Given the description of an element on the screen output the (x, y) to click on. 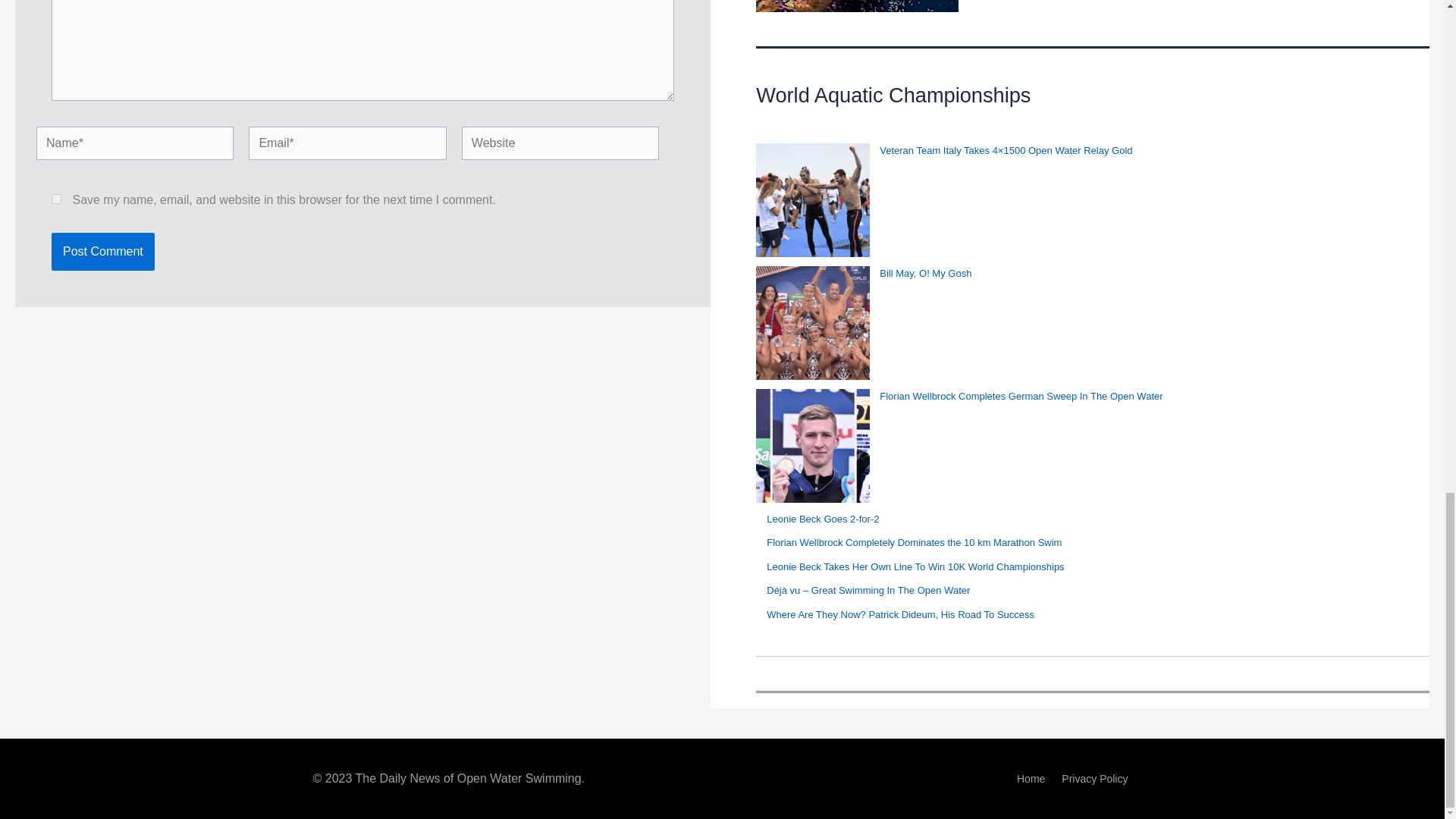
Leonie Beck Goes 2-for-2 (823, 518)
yes (55, 198)
Florian Wellbrock Completes German Sweep In The Open Water (1020, 396)
Bill May, O! My Gosh (925, 273)
Post Comment (102, 251)
Post Comment (102, 251)
